Given the description of an element on the screen output the (x, y) to click on. 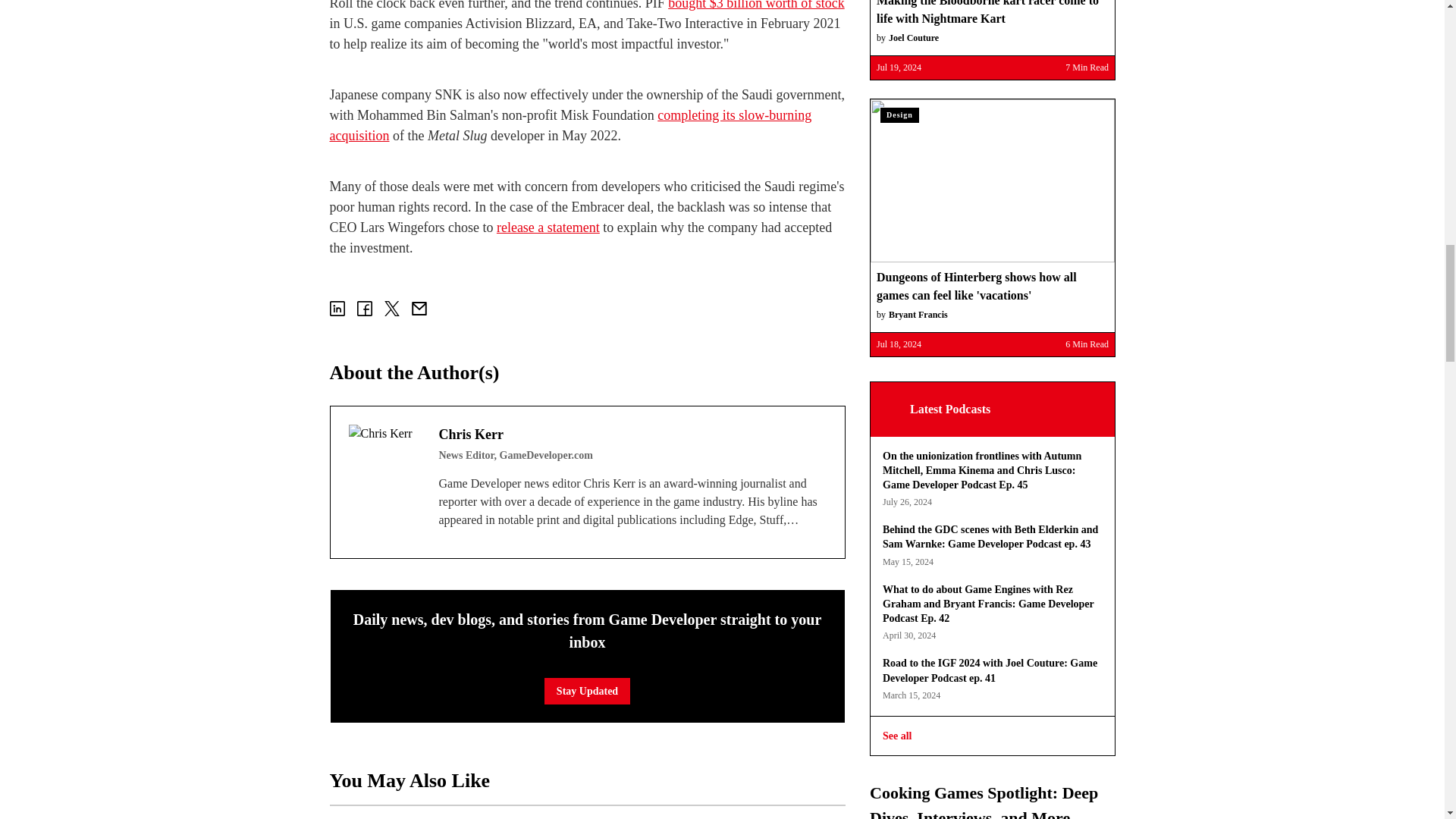
Chris Kerr (384, 460)
